Given the description of an element on the screen output the (x, y) to click on. 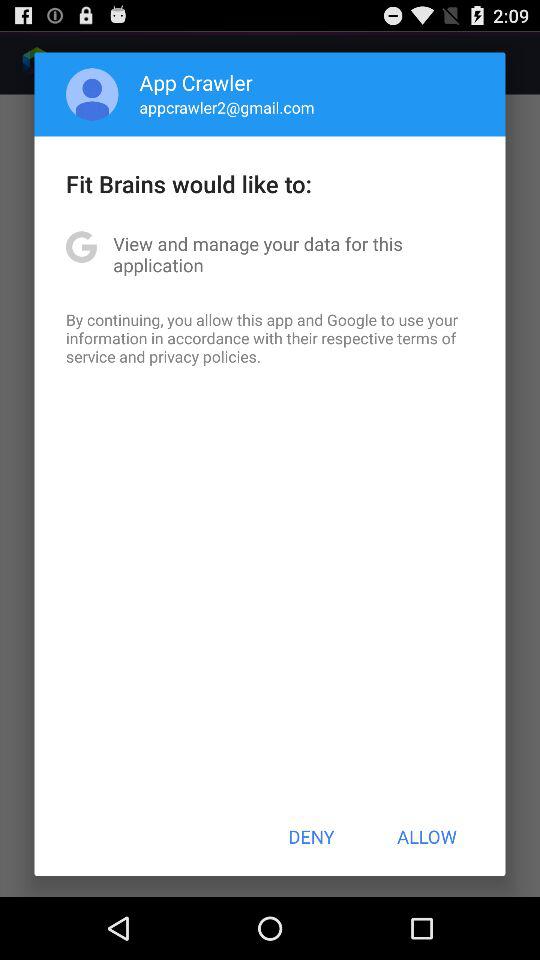
press item at the bottom (311, 836)
